Given the description of an element on the screen output the (x, y) to click on. 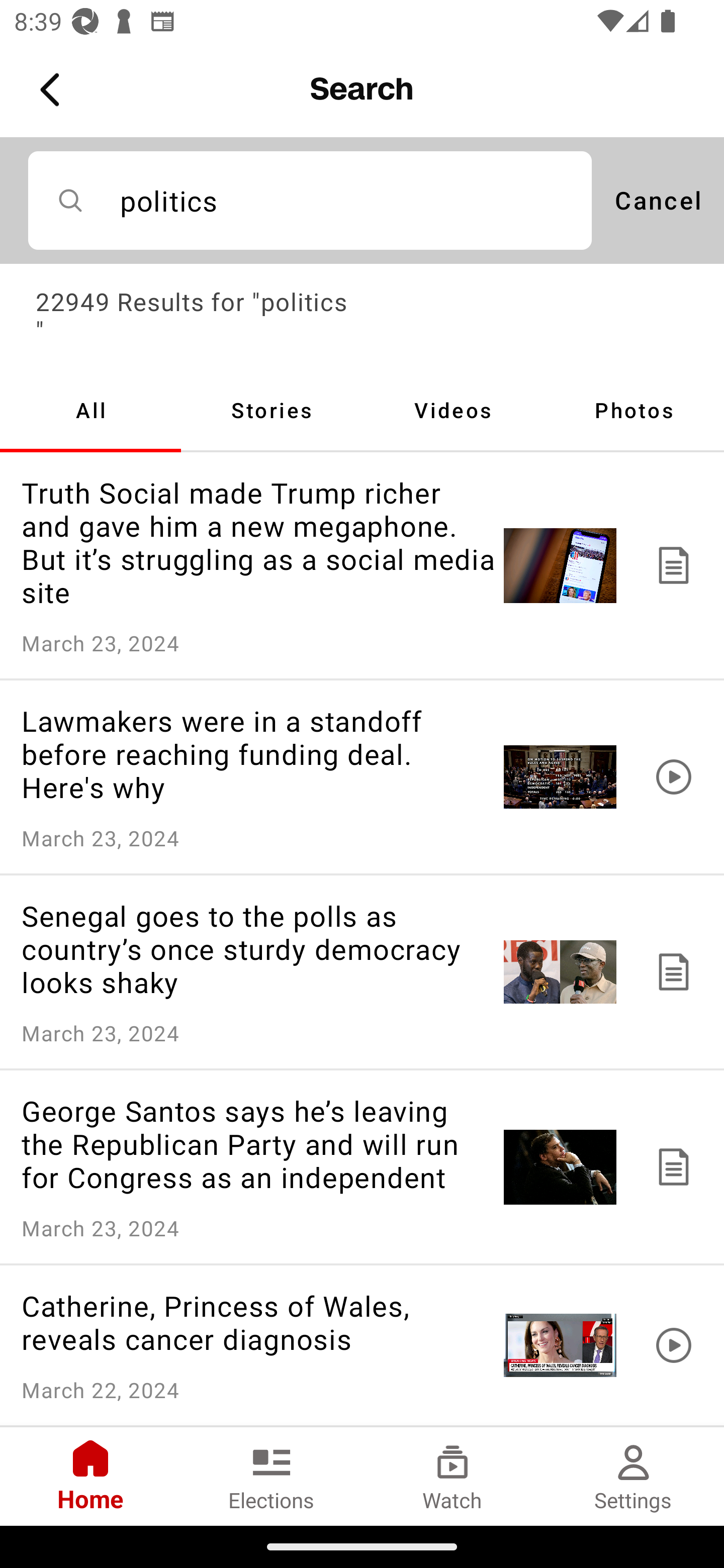
Back Button (52, 89)
Cancel (657, 199)
politics
 (309, 199)
Stories (271, 409)
Videos (452, 409)
Photos (633, 409)
Elections (271, 1475)
Watch (452, 1475)
Settings (633, 1475)
